Given the description of an element on the screen output the (x, y) to click on. 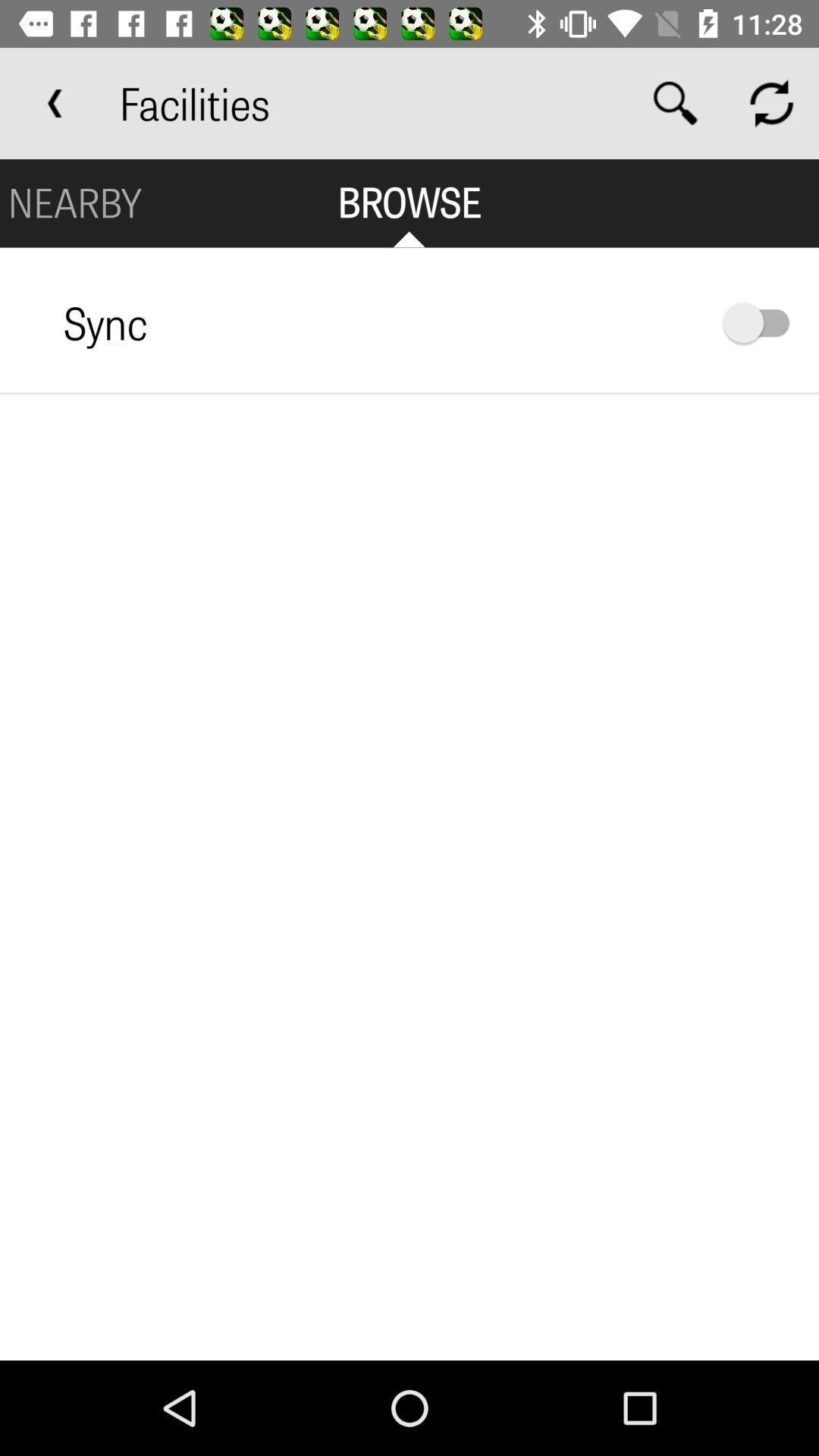
launch item to the right of sync icon (763, 322)
